Given the description of an element on the screen output the (x, y) to click on. 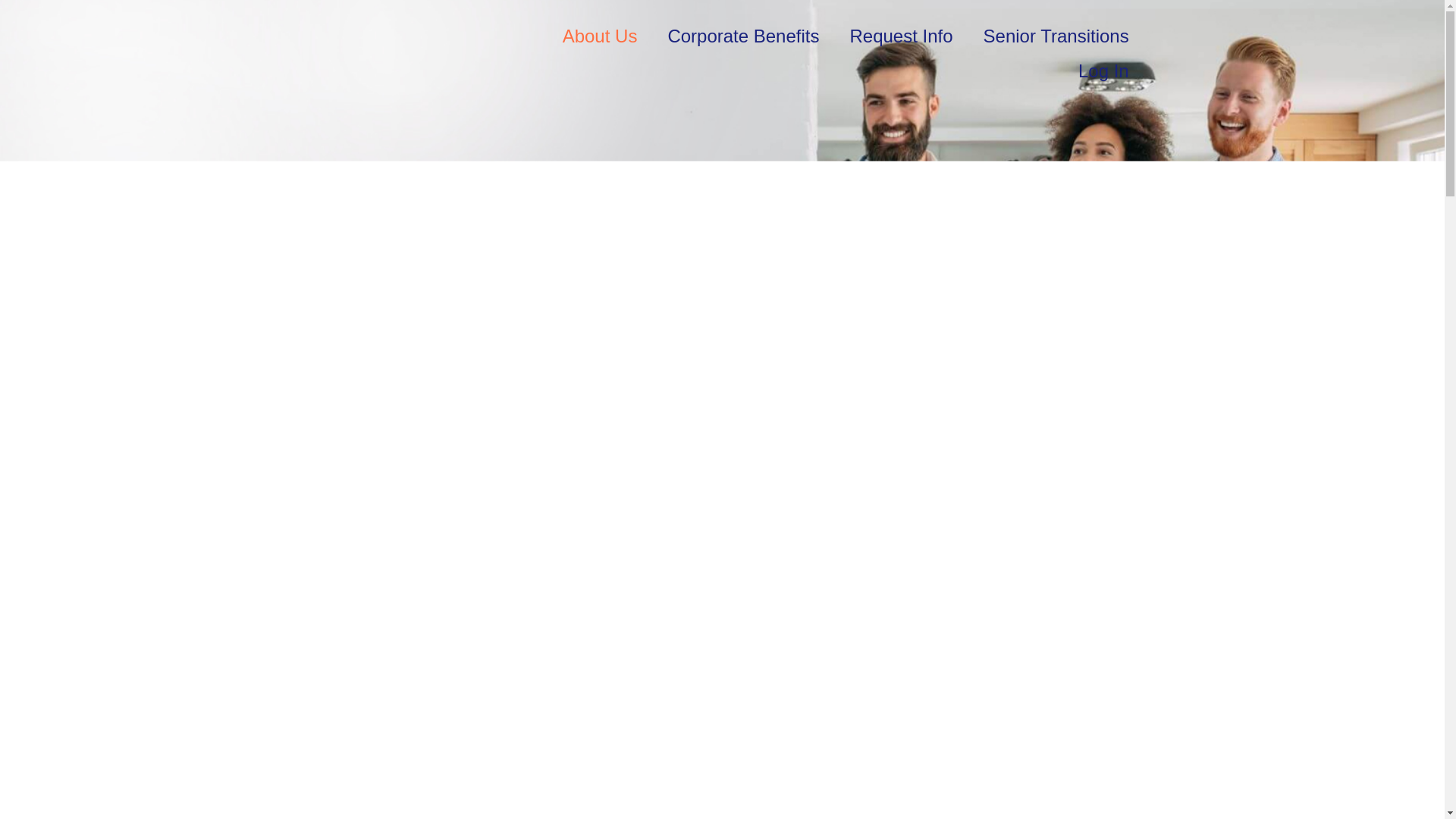
Log In (1103, 71)
Corporate Benefits (743, 36)
Request Info (901, 36)
Senior Transitions (1056, 36)
About Us (599, 36)
